Given the description of an element on the screen output the (x, y) to click on. 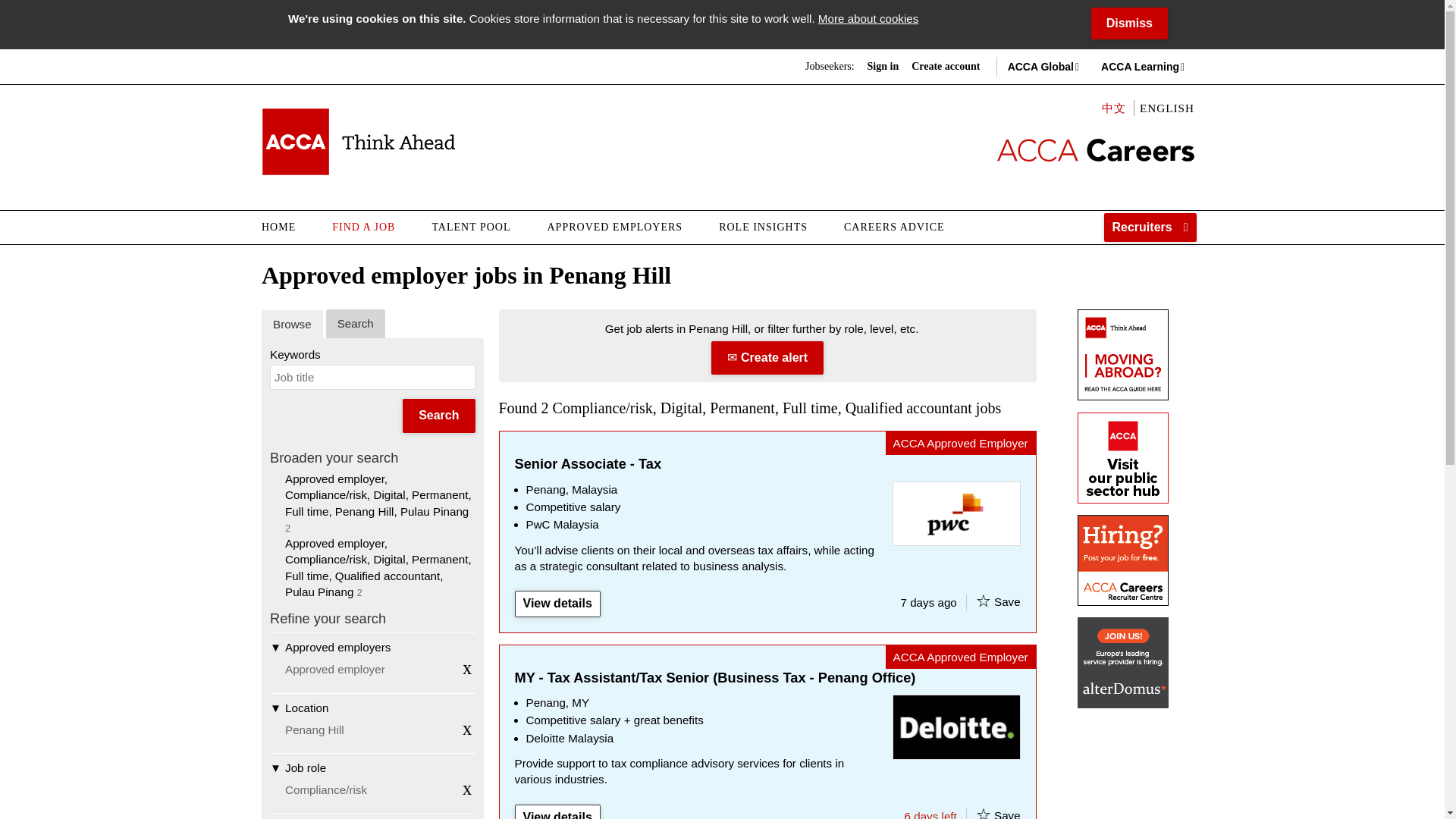
Search (438, 415)
TALENT POOL (470, 227)
FIND A JOB (363, 227)
Search (438, 415)
Job role (372, 767)
More about cookies (868, 18)
ROLE INSIGHTS (762, 227)
Search (355, 323)
ACCA Careers (358, 141)
Add to shortlist (983, 600)
APPROVED EMPLOYERS (615, 227)
Sign in (882, 66)
Approved employers (372, 646)
CAREERS ADVICE (893, 227)
HOME (288, 227)
